Given the description of an element on the screen output the (x, y) to click on. 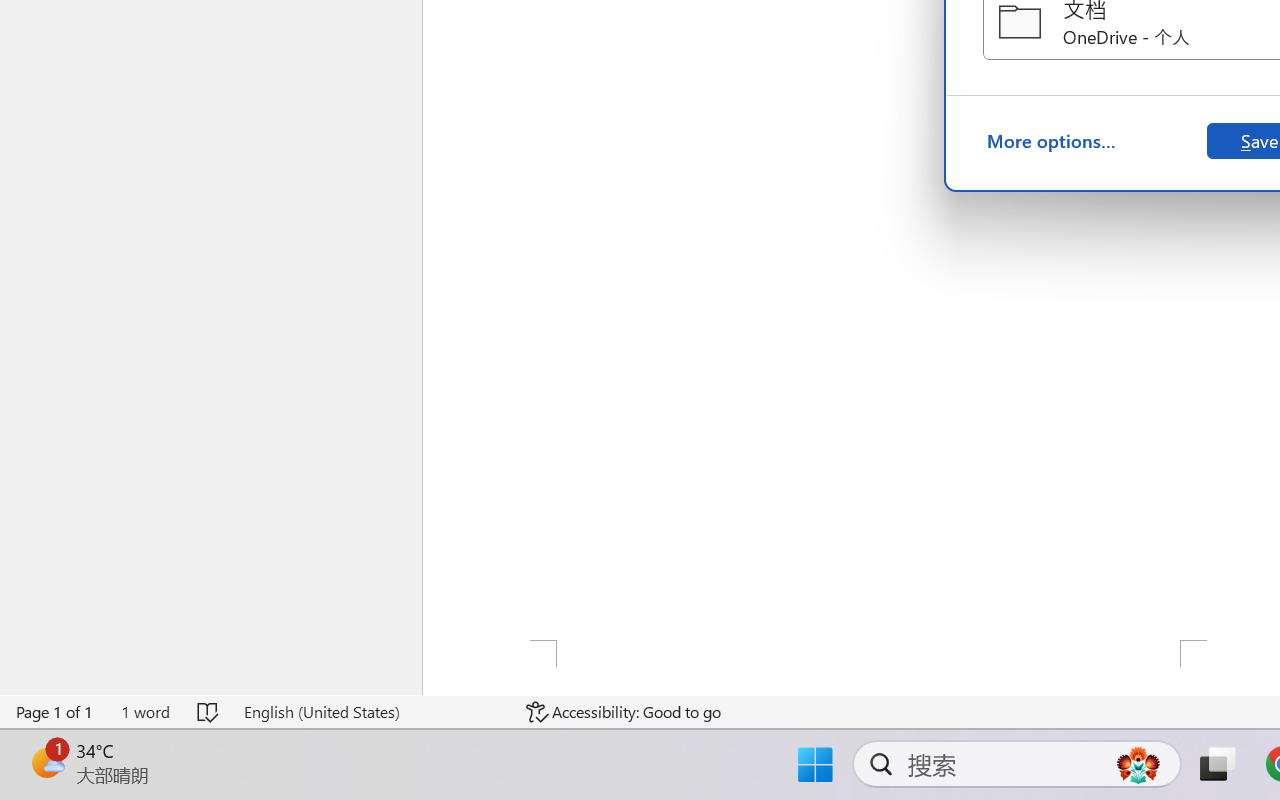
Page Number Page 1 of 1 (55, 712)
AutomationID: BadgeAnchorLargeTicker (46, 762)
Word Count 1 word (145, 712)
AutomationID: DynamicSearchBoxGleamImage (1138, 764)
Spelling and Grammar Check No Errors (208, 712)
Accessibility Checker Accessibility: Good to go (623, 712)
Language English (United States) (370, 712)
